Given the description of an element on the screen output the (x, y) to click on. 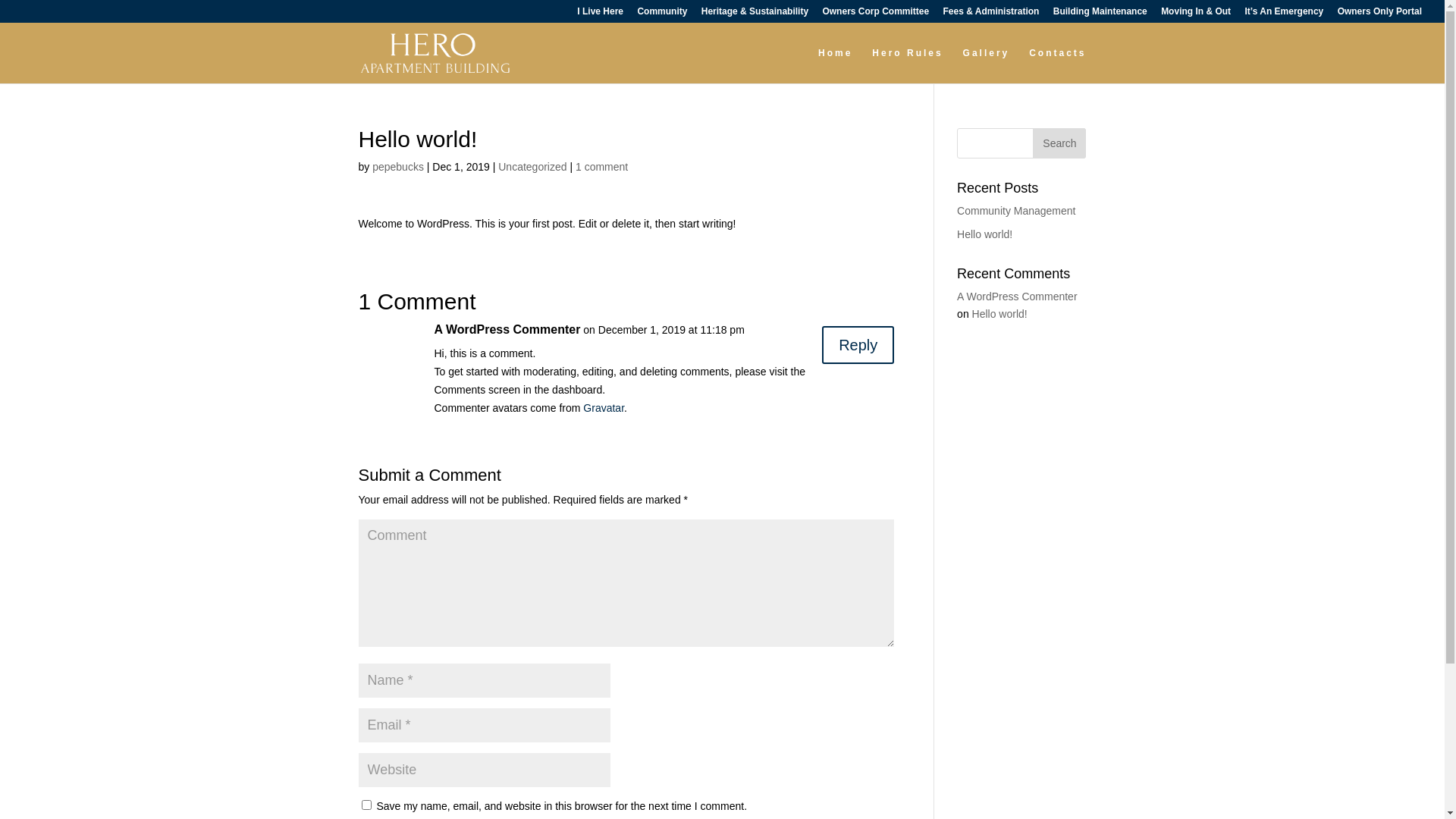
Reply Element type: text (858, 345)
Search Element type: text (1058, 143)
Home Element type: text (835, 65)
Moving In & Out Element type: text (1195, 14)
Hello world! Element type: text (984, 234)
Heritage & Sustainability Element type: text (754, 14)
Gravatar Element type: text (603, 407)
Community Management Element type: text (1016, 210)
Owners Only Portal Element type: text (1379, 14)
Gallery Element type: text (986, 65)
Hello world! Element type: text (999, 313)
I Live Here Element type: text (600, 14)
pepebucks Element type: text (397, 166)
Owners Corp Committee Element type: text (875, 14)
Contacts Element type: text (1057, 65)
Fees & Administration Element type: text (991, 14)
Hero Rules Element type: text (907, 65)
Uncategorized Element type: text (532, 166)
A WordPress Commenter Element type: text (1016, 296)
1 comment Element type: text (601, 166)
Community Element type: text (662, 14)
Building Maintenance Element type: text (1100, 14)
A WordPress Commenter Element type: text (506, 329)
